Given the description of an element on the screen output the (x, y) to click on. 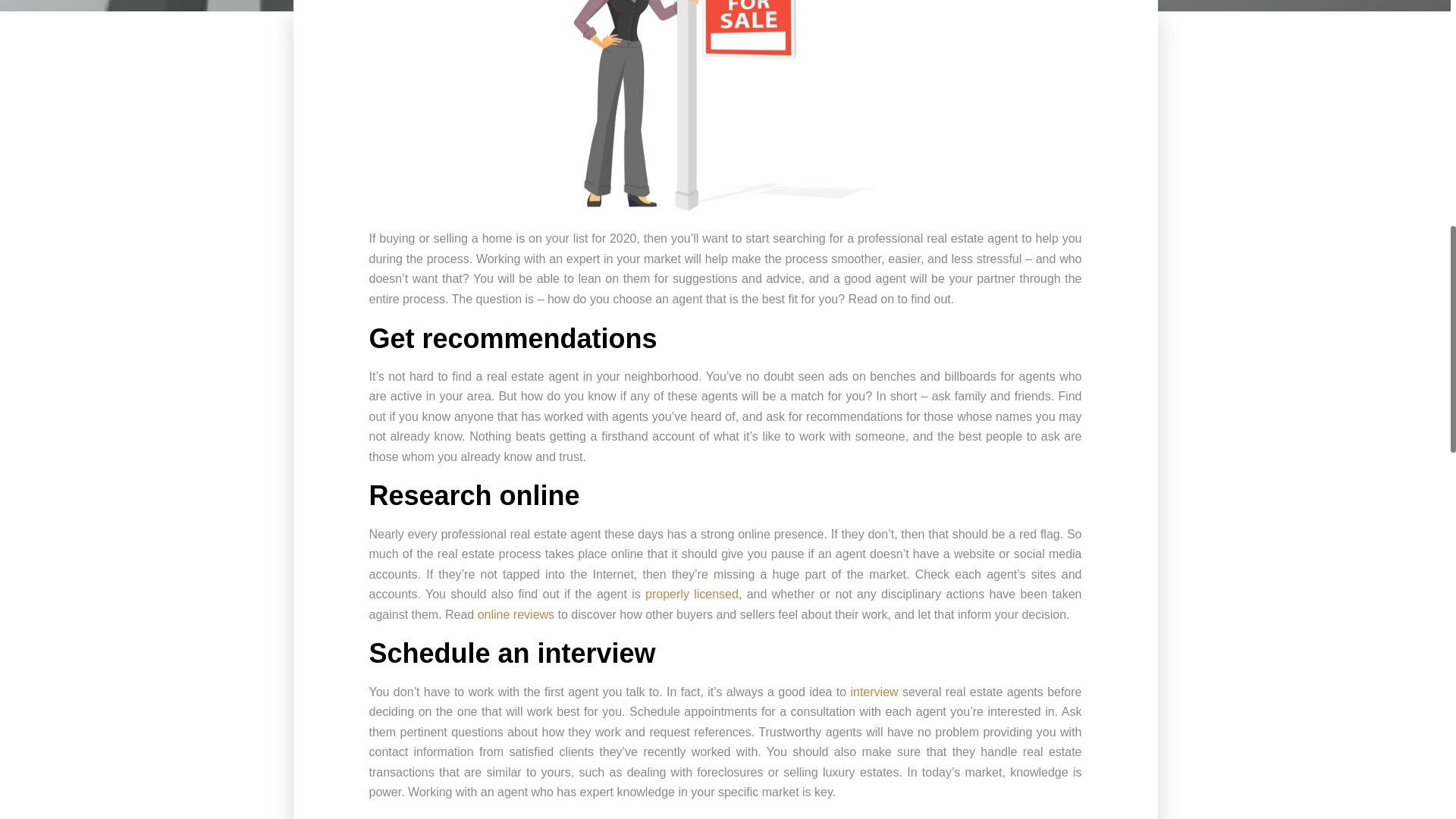
properly licensed (691, 594)
online reviews (515, 614)
How To Choose the Best Agent (724, 105)
interview (874, 691)
